Given the description of an element on the screen output the (x, y) to click on. 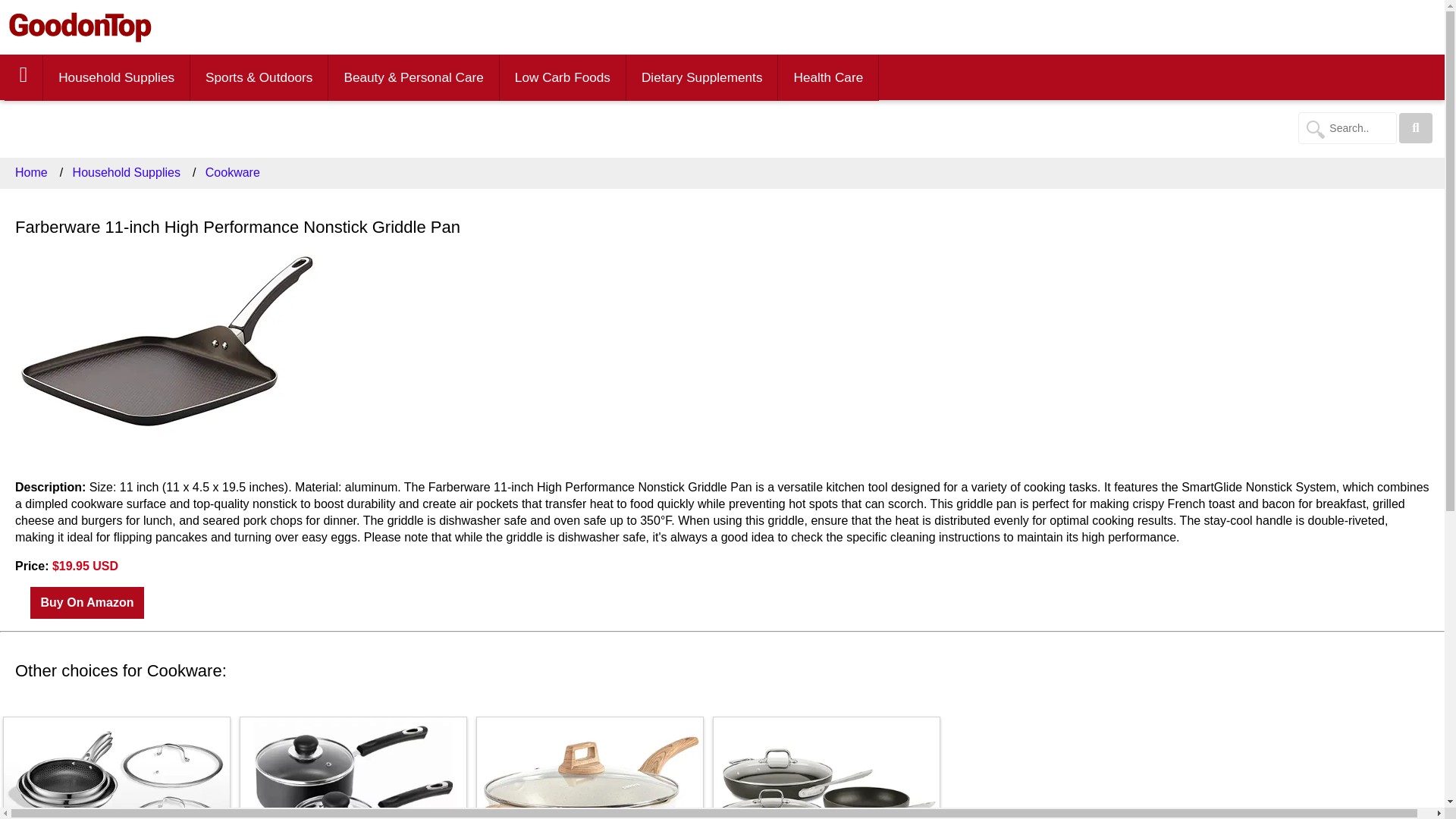
Go to Household Supplies page (116, 77)
Go to Home Page (23, 77)
Household Supplies (116, 77)
Go to Home Page (79, 27)
